Given the description of an element on the screen output the (x, y) to click on. 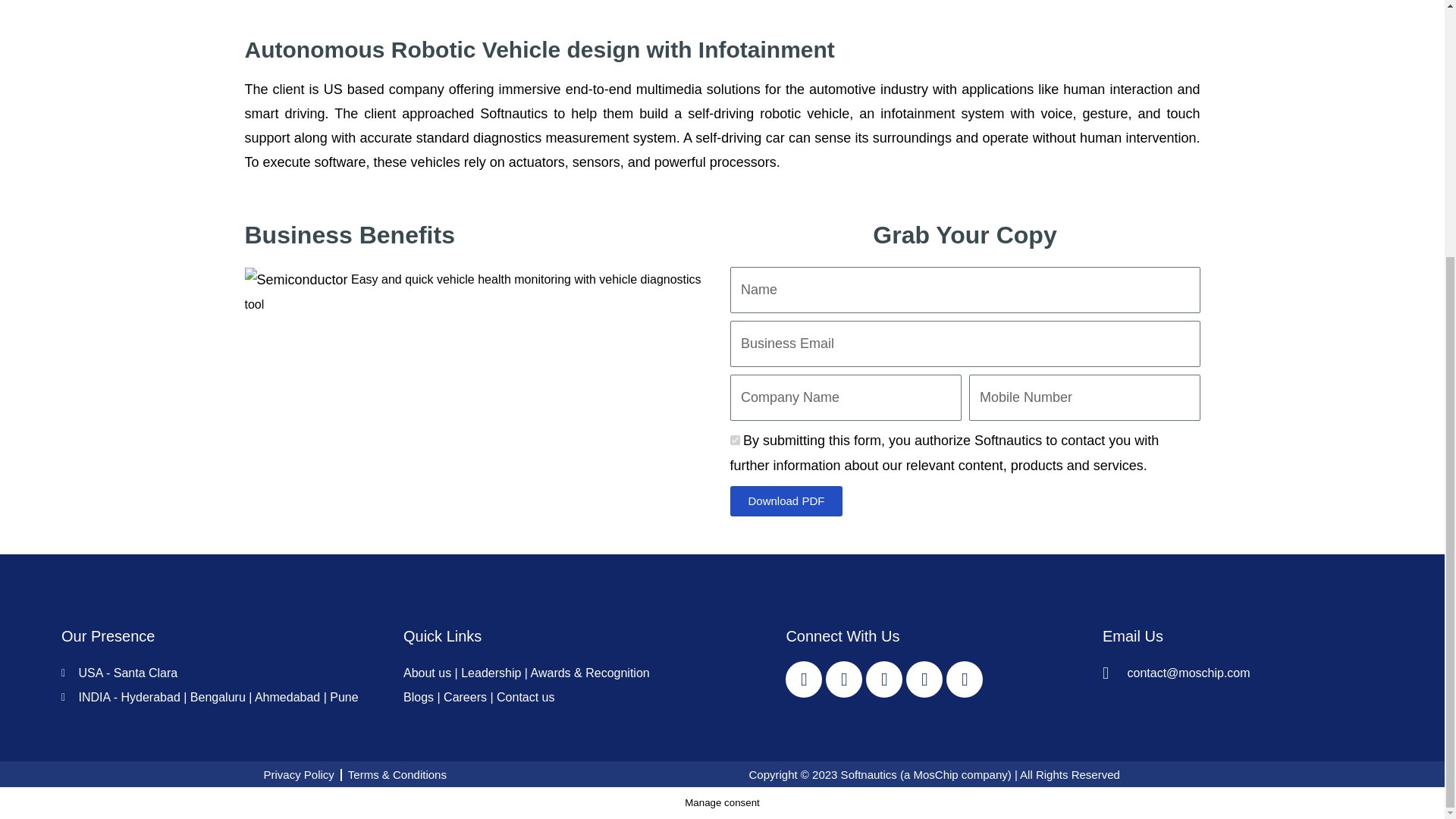
on (734, 439)
